Given the description of an element on the screen output the (x, y) to click on. 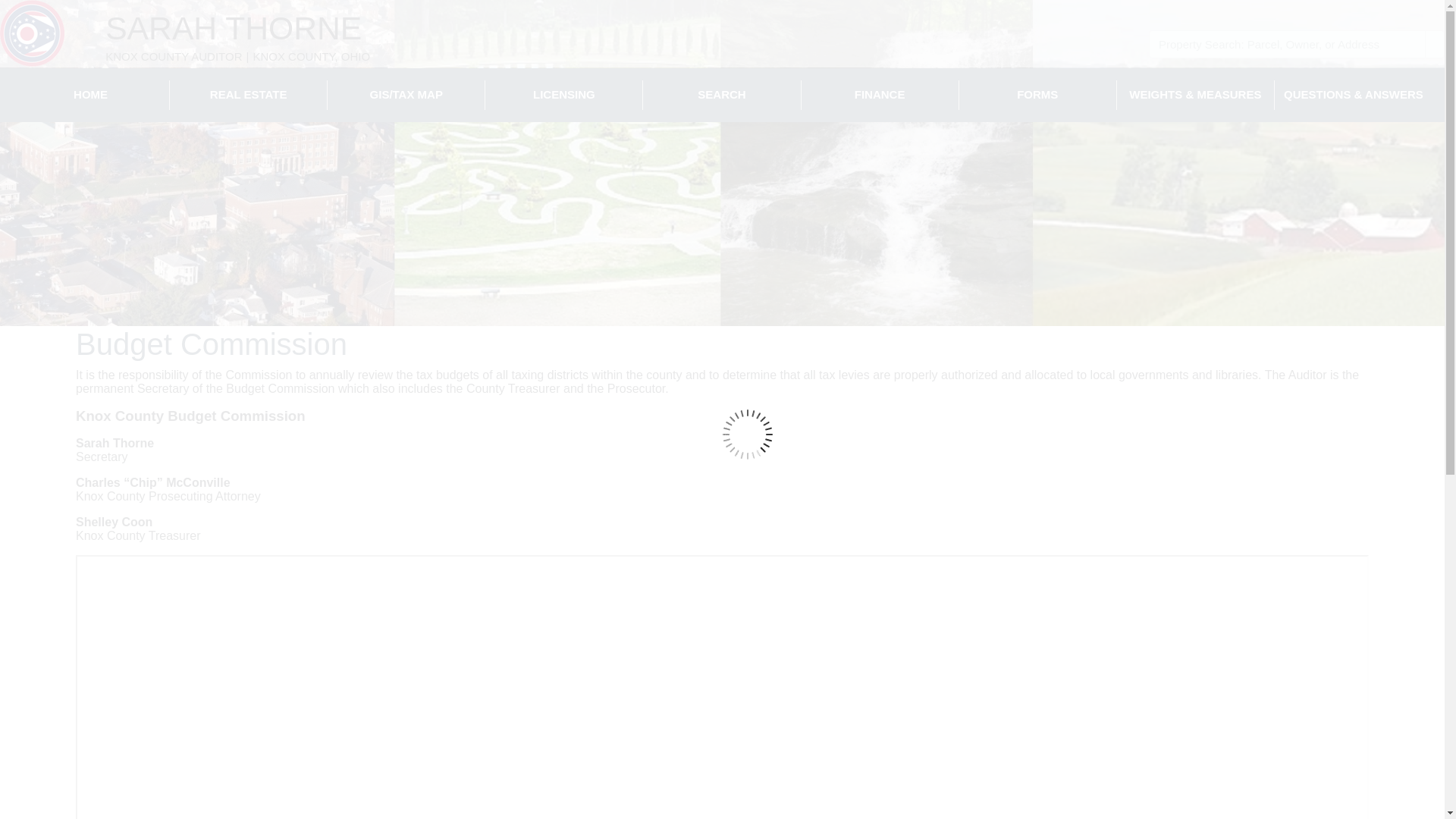
FINANCE (880, 94)
REAL ESTATE (248, 94)
LICENSING (563, 94)
HOME (89, 94)
Home Button (32, 33)
FORMS (1037, 94)
SEARCH (721, 94)
